Given the description of an element on the screen output the (x, y) to click on. 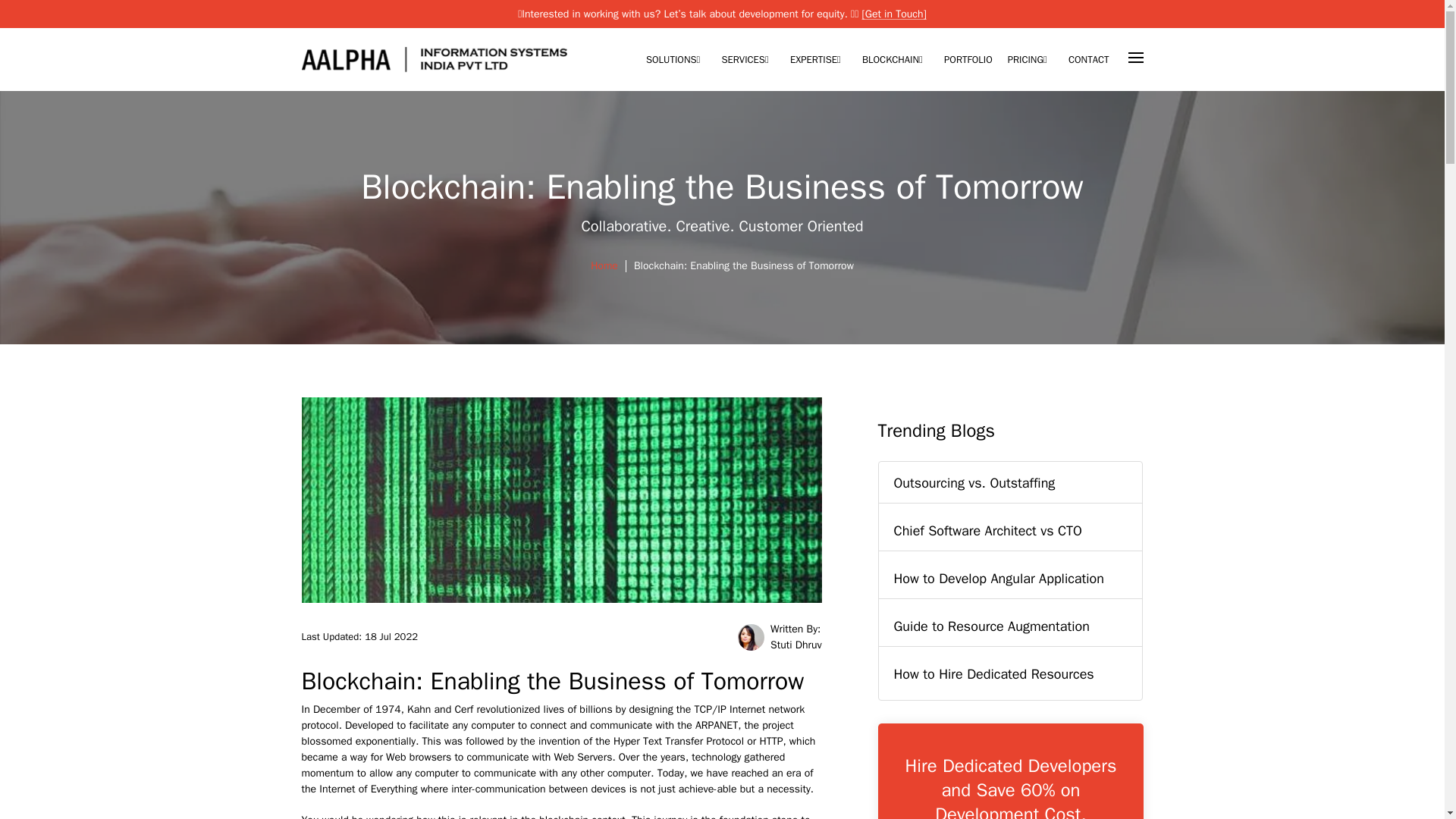
SERVICES (748, 60)
SOLUTIONS (676, 60)
